Given the description of an element on the screen output the (x, y) to click on. 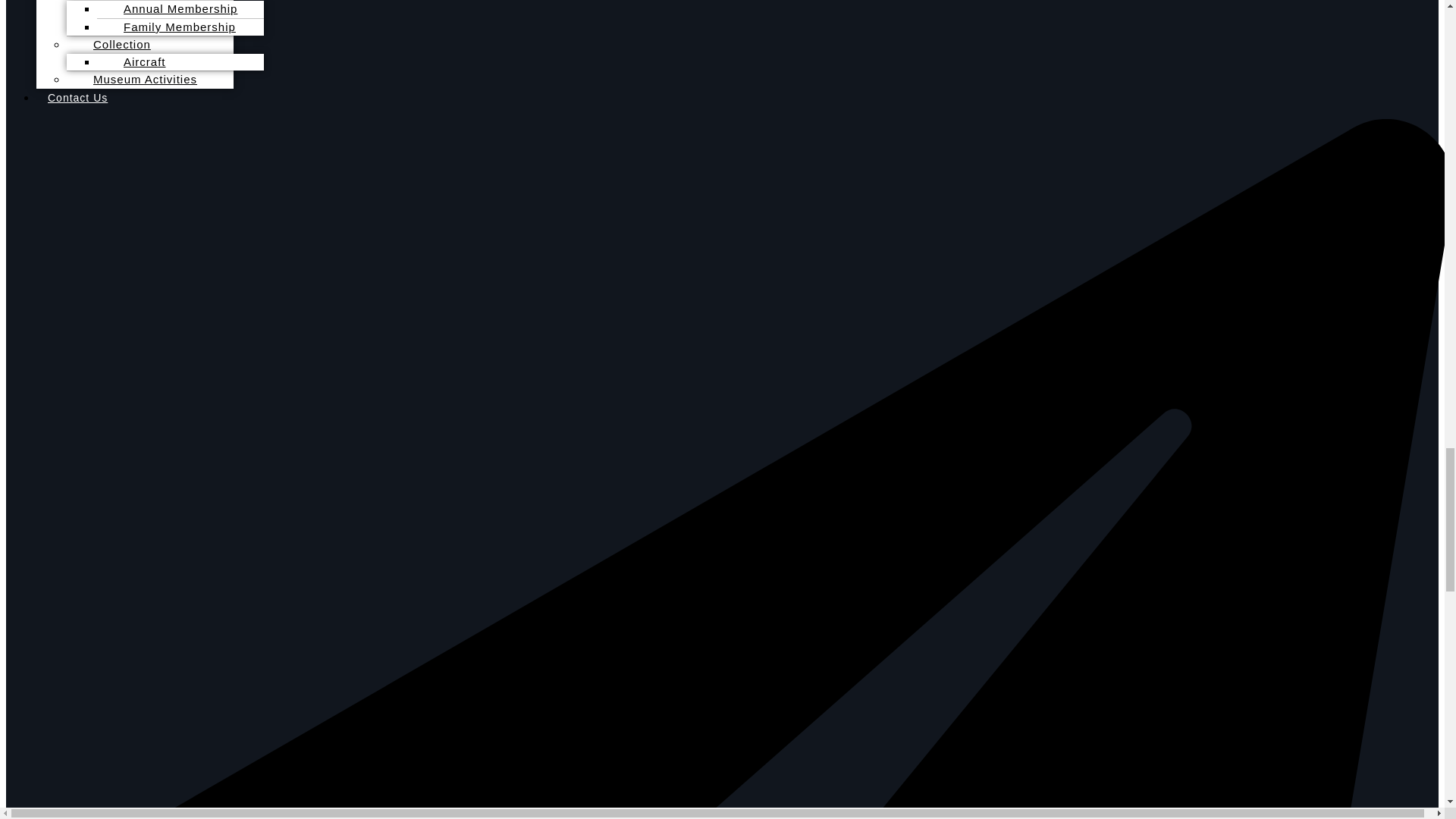
Contact Us (77, 97)
Memberships (123, 4)
Annual Membership (172, 13)
Aircraft (137, 61)
Museum Activities (137, 79)
Collection (113, 44)
Family Membership (172, 27)
